Given the description of an element on the screen output the (x, y) to click on. 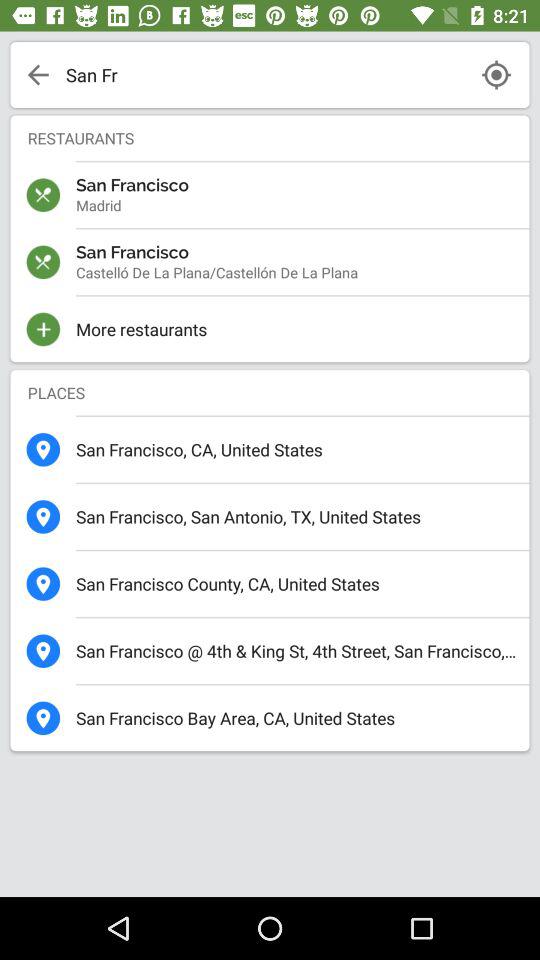
search by current location (496, 74)
